Given the description of an element on the screen output the (x, y) to click on. 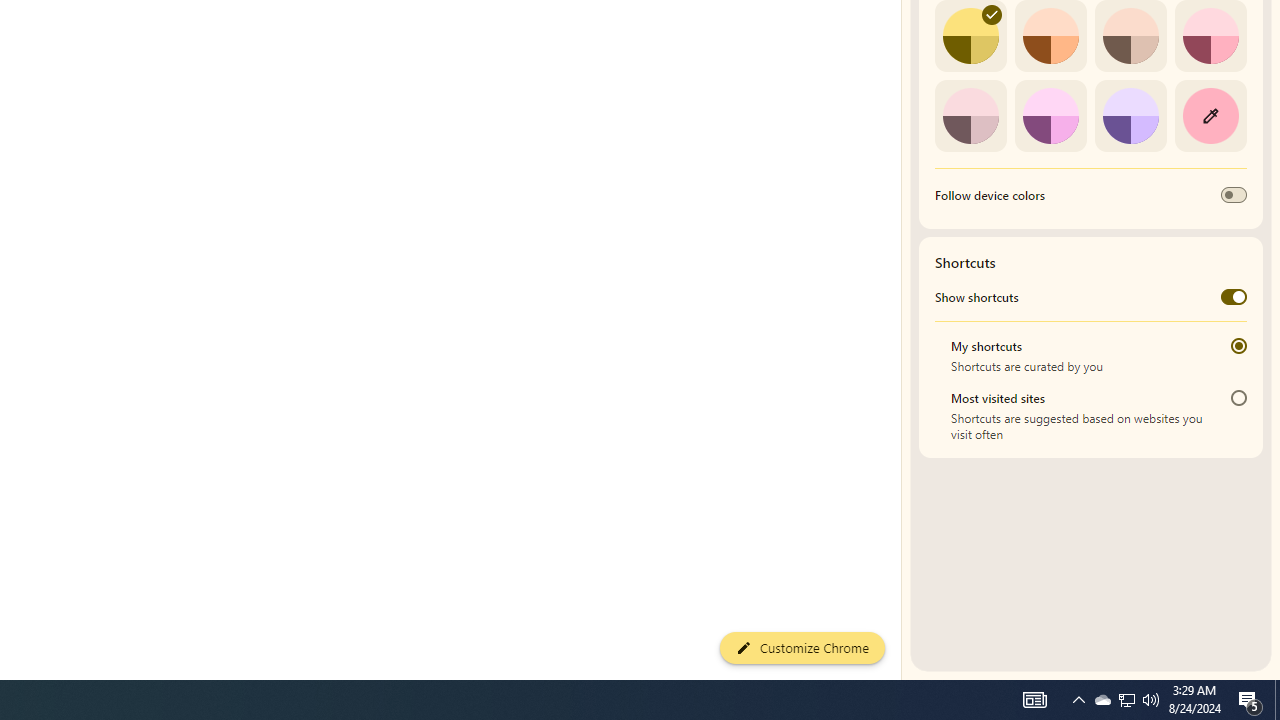
Side Panel Resize Handle (905, 39)
